Given the description of an element on the screen output the (x, y) to click on. 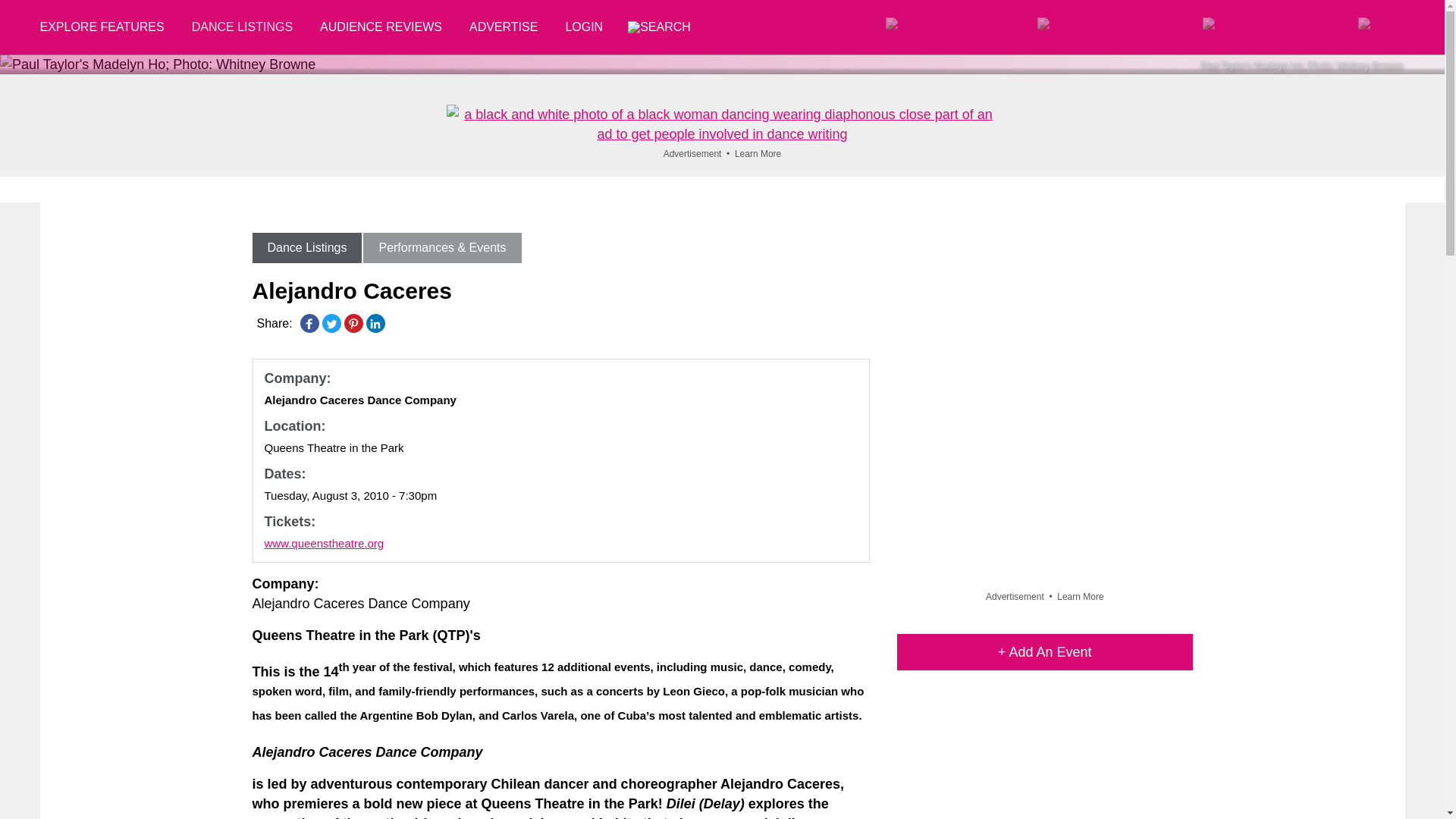
LinkedIn (375, 322)
EXPLORE FEATURES (108, 27)
AUDIENCE REVIEWS (380, 27)
ADVERTISE (503, 27)
Facebook (309, 322)
Pinterest (353, 322)
Twitter (331, 322)
LOGIN (583, 27)
DANCE LISTINGS (241, 27)
